Given the description of an element on the screen output the (x, y) to click on. 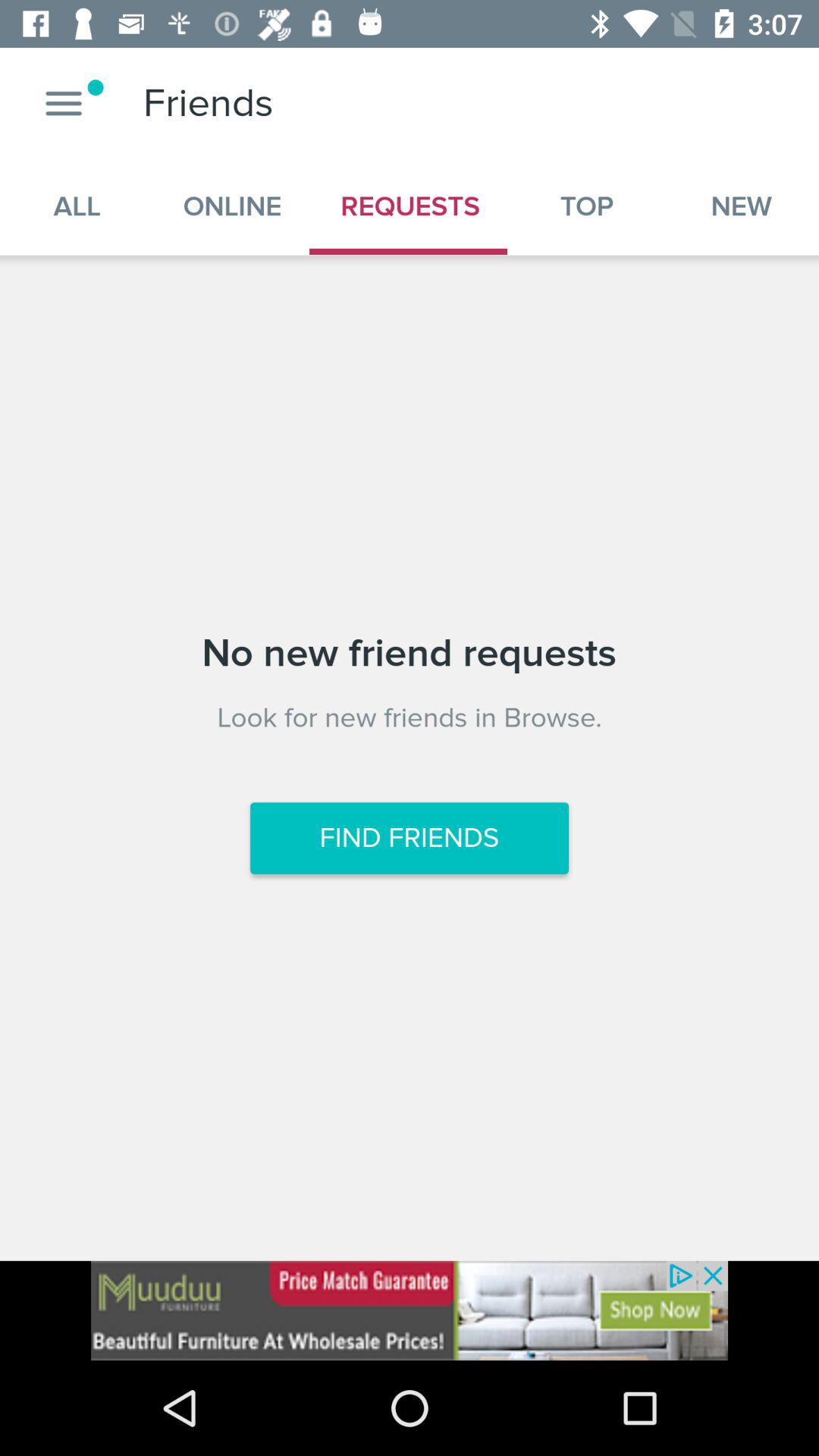
advertisement space (409, 1310)
